Given the description of an element on the screen output the (x, y) to click on. 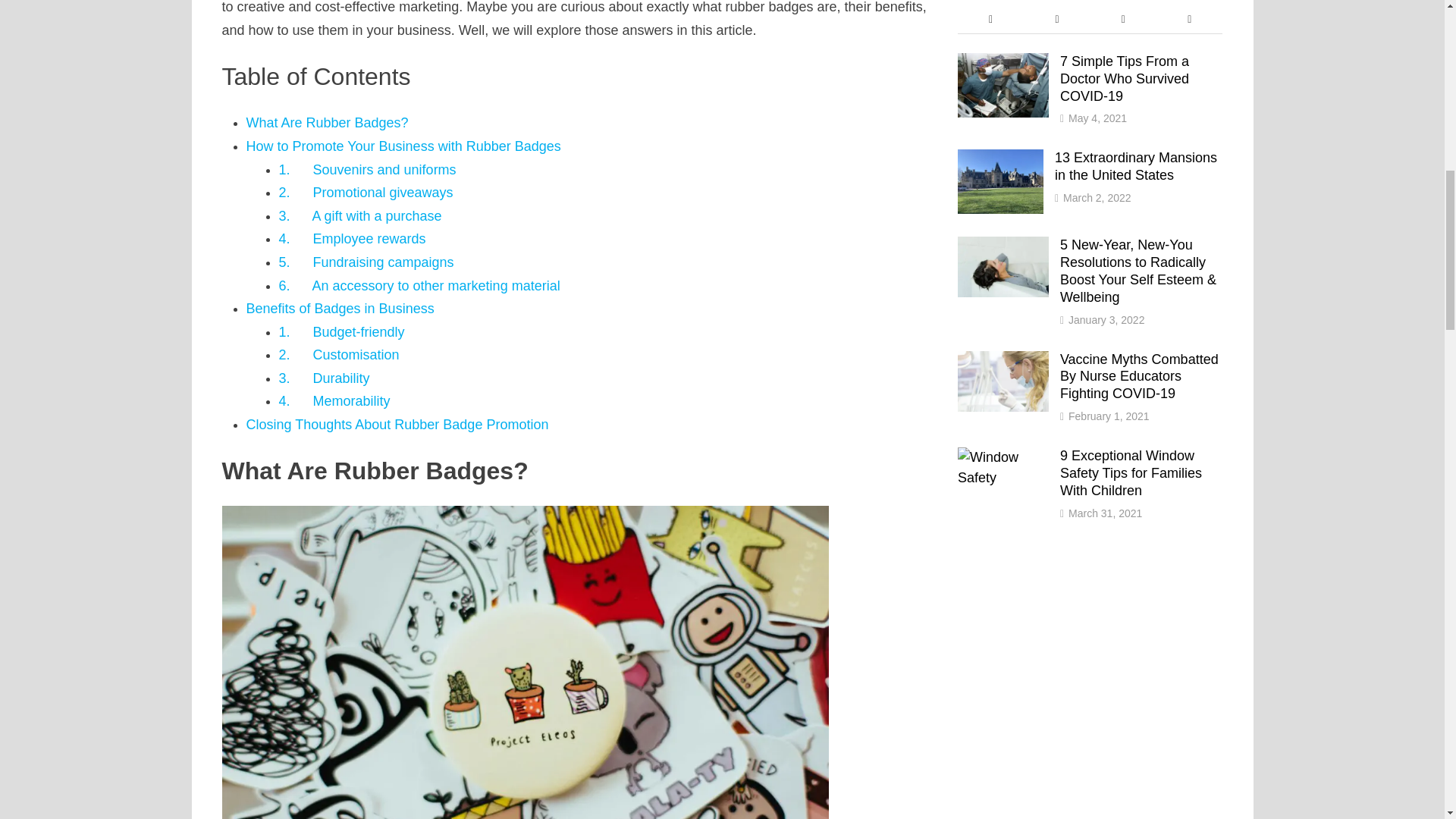
Vaccine Myths Combatted By Nurse Educators Fighting COVID-19 (1003, 360)
What Are Rubber Badges? (326, 122)
1.      Souvenirs and uniforms (368, 169)
9 Exceptional Window Safety Tips for Families With Children (1003, 457)
2.      Promotional giveaways (365, 192)
How to Promote Your Business with Rubber Badges (403, 145)
7 Simple Tips From a Doctor Who Survived COVID-19 (1003, 62)
13 Extraordinary Mansions in the United States (1000, 159)
